Given the description of an element on the screen output the (x, y) to click on. 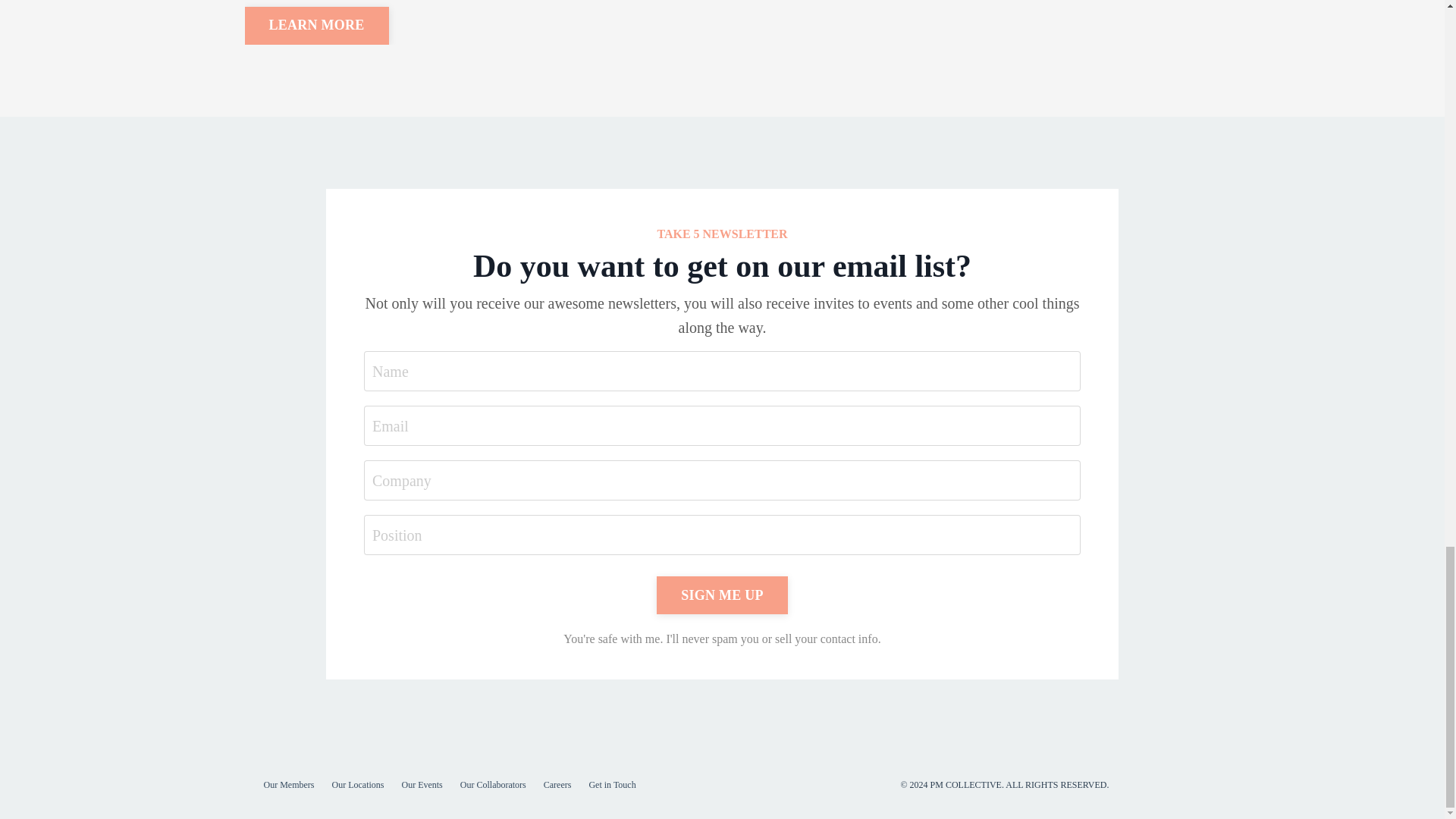
Careers (557, 784)
SIGN ME UP (721, 595)
LEARN MORE (316, 25)
Our Locations (357, 784)
Get in Touch (611, 784)
Our Events (421, 784)
Our Collaborators (492, 784)
Our Members (288, 784)
